Given the description of an element on the screen output the (x, y) to click on. 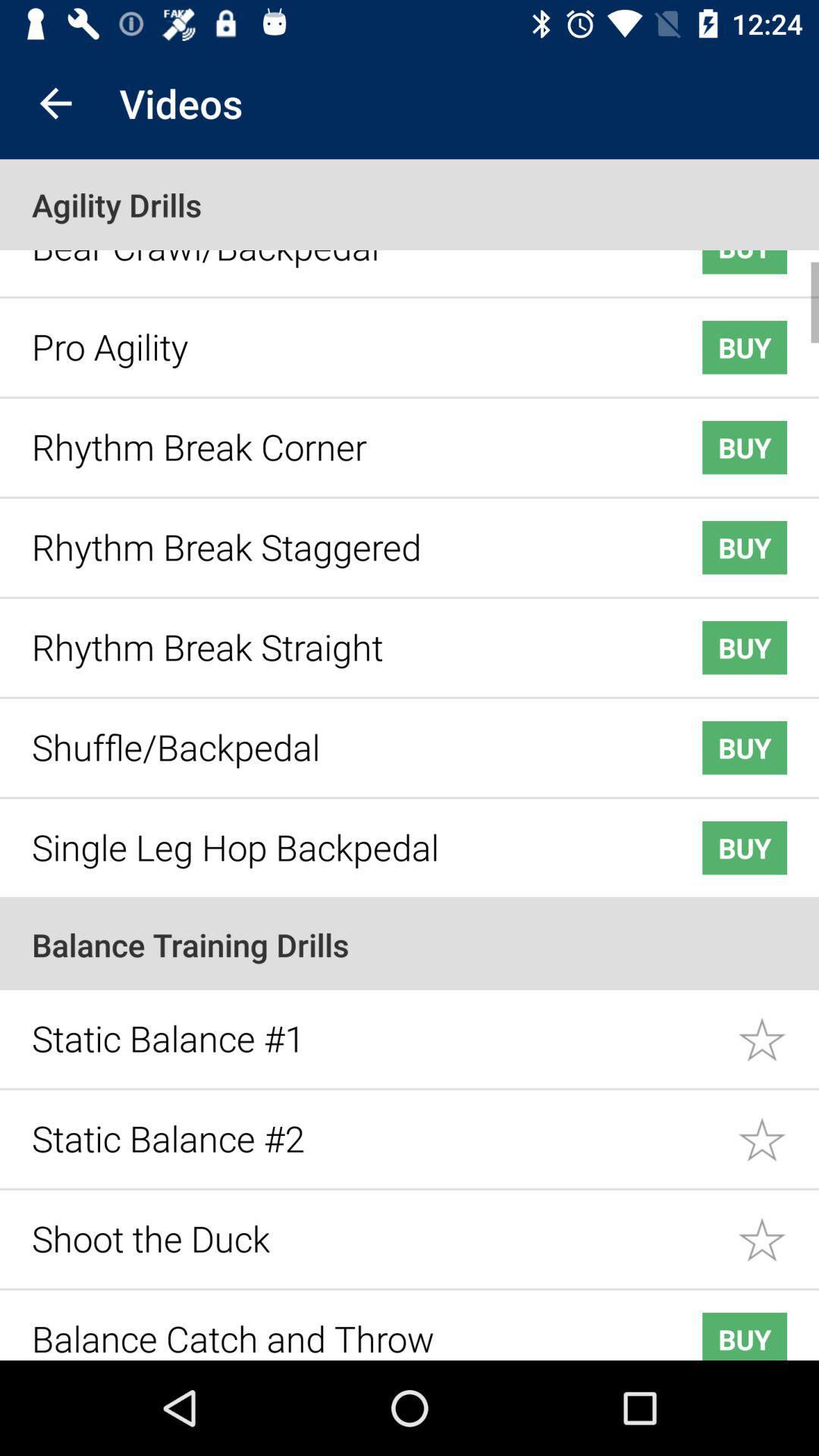
save as favorite (778, 1028)
